Given the description of an element on the screen output the (x, y) to click on. 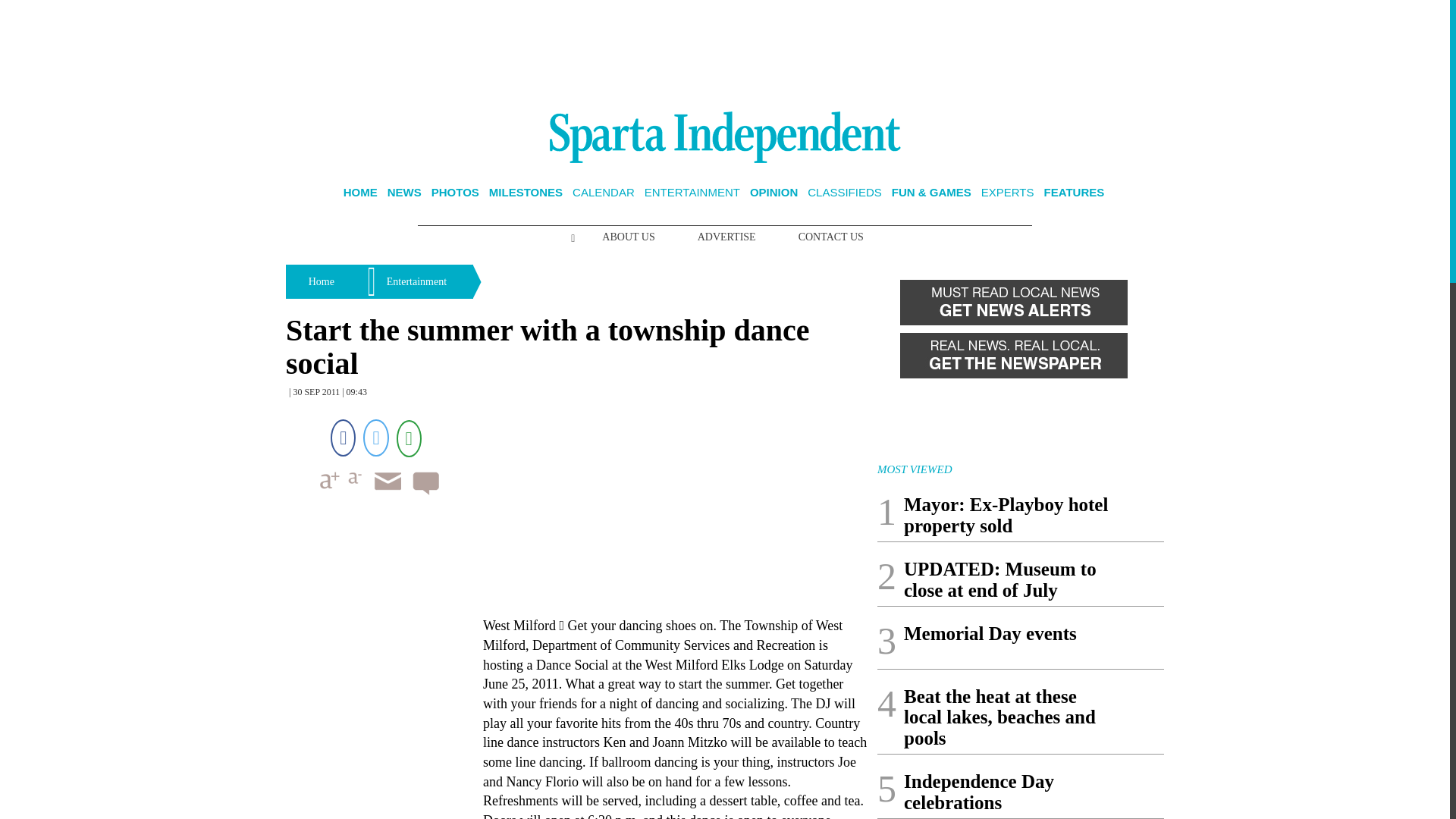
OPINION (773, 192)
CALENDAR (603, 192)
CLASSIFIEDS (845, 192)
FEATURES (1074, 192)
3rd party ad content (724, 49)
PHOTOS (454, 192)
ENTERTAINMENT (692, 192)
HOME (360, 192)
NEWS (404, 192)
EXPERTS (1007, 192)
MILESTONES (525, 192)
